Given the description of an element on the screen output the (x, y) to click on. 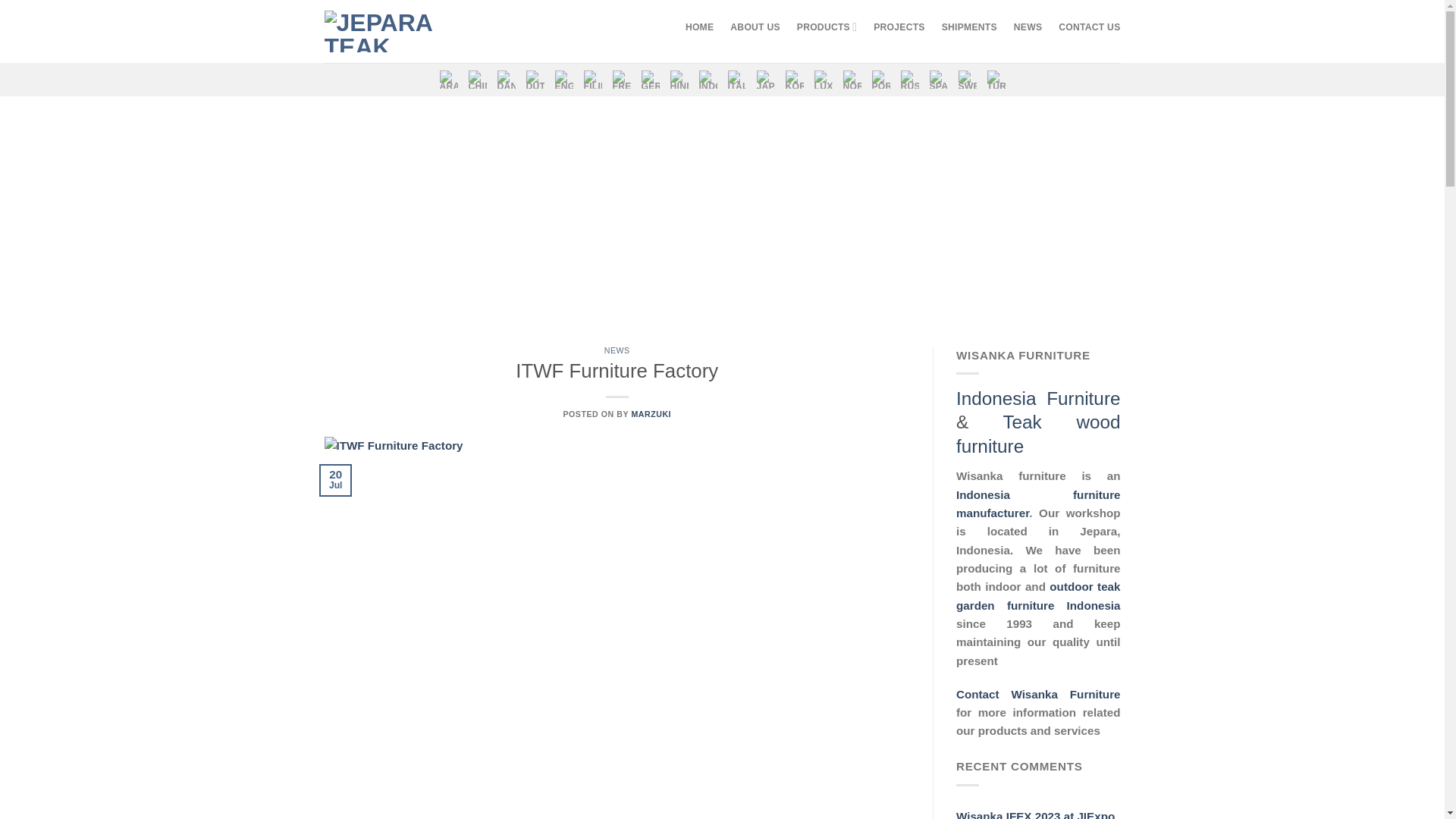
NEWS (1027, 26)
SHIPMENTS (969, 26)
Japanese (765, 79)
Filipino (592, 79)
Norwegian (852, 79)
Russian (909, 79)
Portuguese (880, 79)
Luxembourgish (822, 79)
Jepara Teak Wood Furniture - Wisanka Furniture (391, 31)
Italian (736, 79)
English (563, 79)
Hindi (678, 79)
Danish (506, 79)
Swedish (967, 79)
Dutch (534, 79)
